Given the description of an element on the screen output the (x, y) to click on. 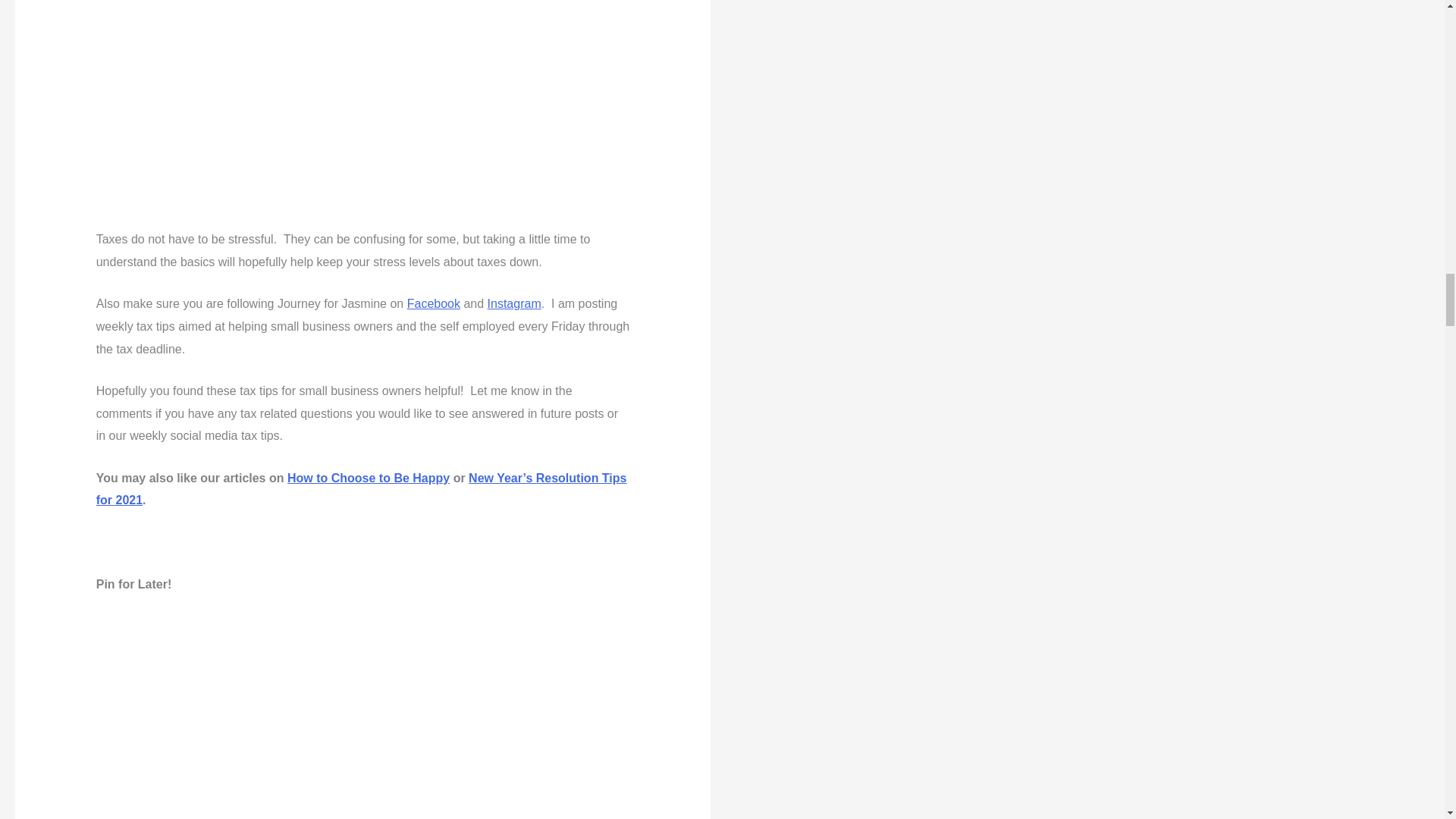
Instagram (514, 303)
Facebook (433, 303)
How to Choose to Be Happy (367, 477)
